Given the description of an element on the screen output the (x, y) to click on. 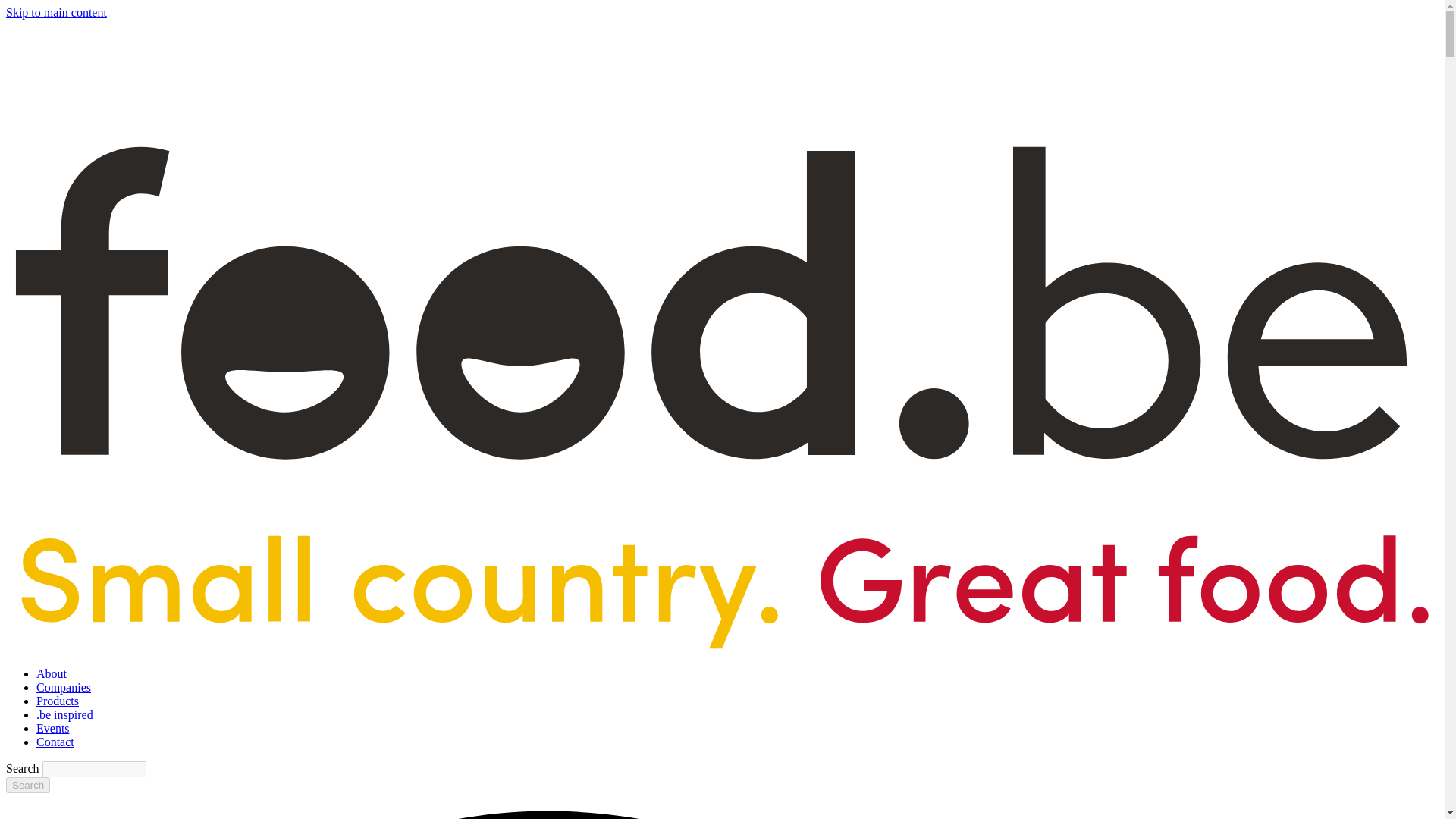
Search (27, 785)
Search (27, 785)
Events (52, 727)
Skip to main content (55, 11)
Provide the search keywords (94, 769)
Companies (63, 686)
Contact (55, 741)
Products (57, 700)
.be inspired (64, 714)
About (51, 673)
